Given the description of an element on the screen output the (x, y) to click on. 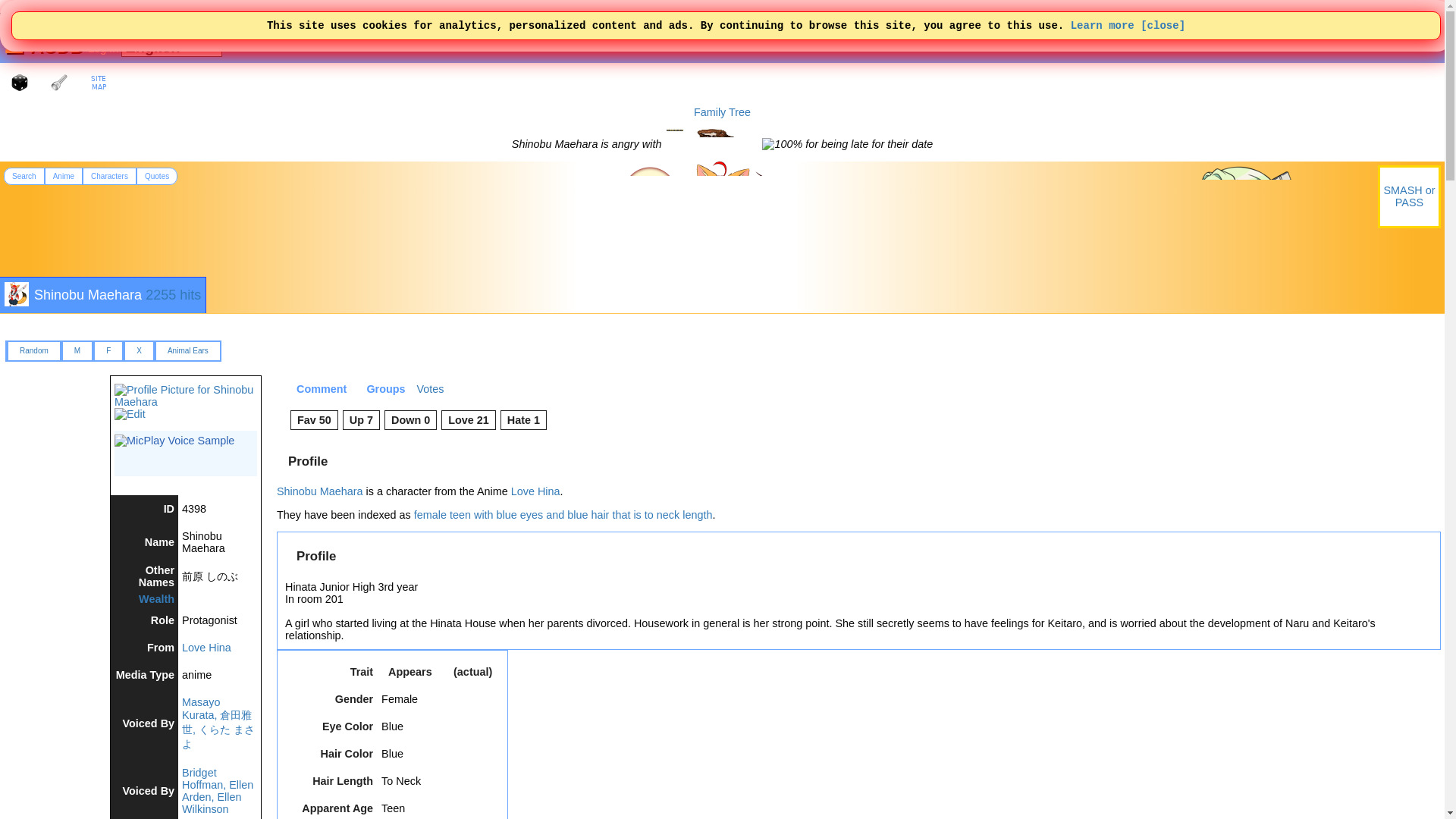
Anime Characters Database (55, 46)
Wealth (156, 598)
Quotes (156, 176)
Random (34, 350)
Love Hina (206, 647)
ACDB (55, 46)
Shinobu Maehara (87, 294)
Search (24, 176)
Edit (130, 413)
Animal Ears (187, 350)
2255 hits (172, 294)
SMASH or PASS (1408, 196)
 Log In (100, 48)
Bridget Hoffman, Ellen Arden, Ellen Wilkinson (217, 790)
